Given the description of an element on the screen output the (x, y) to click on. 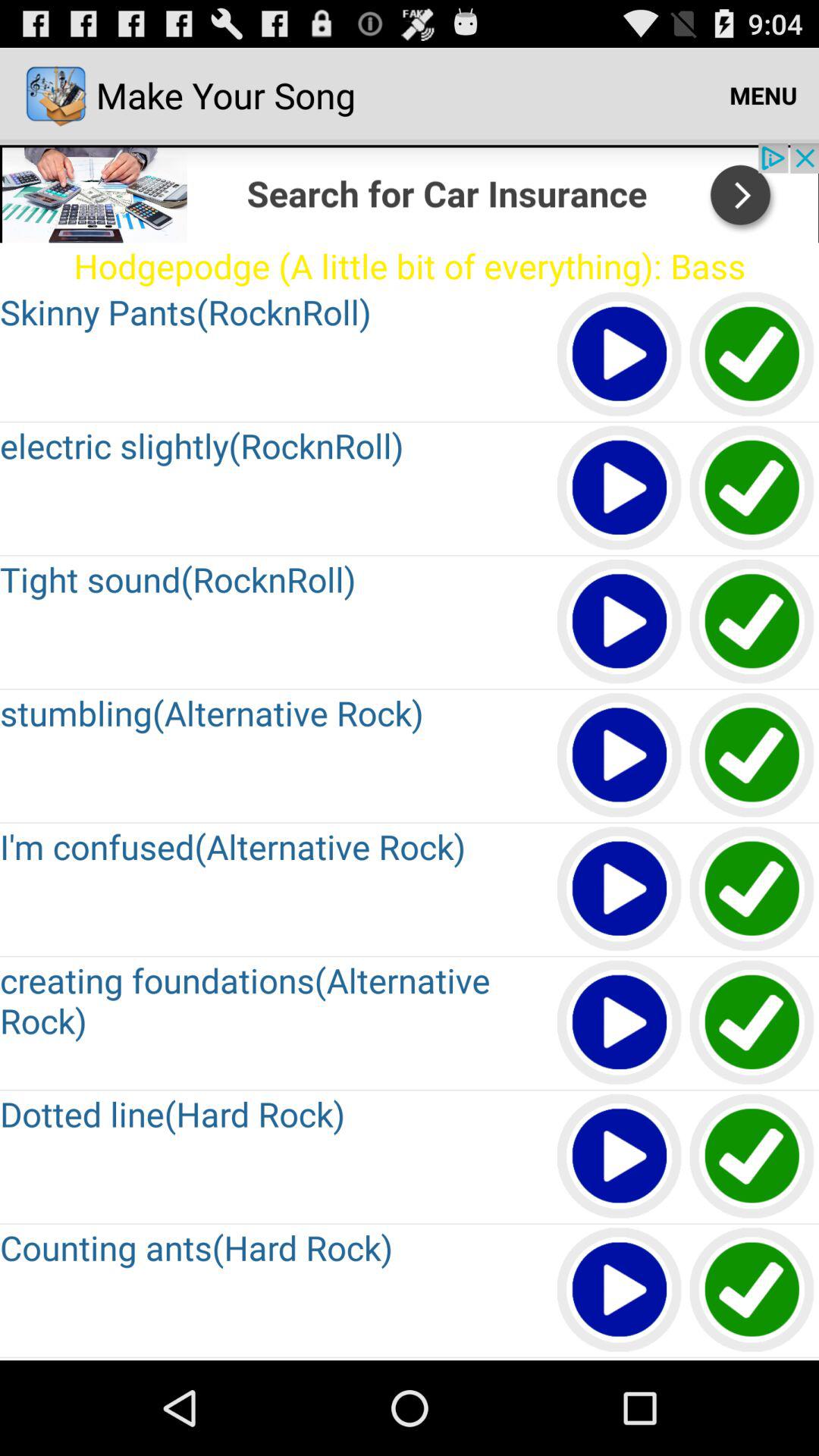
play the song (619, 354)
